Given the description of an element on the screen output the (x, y) to click on. 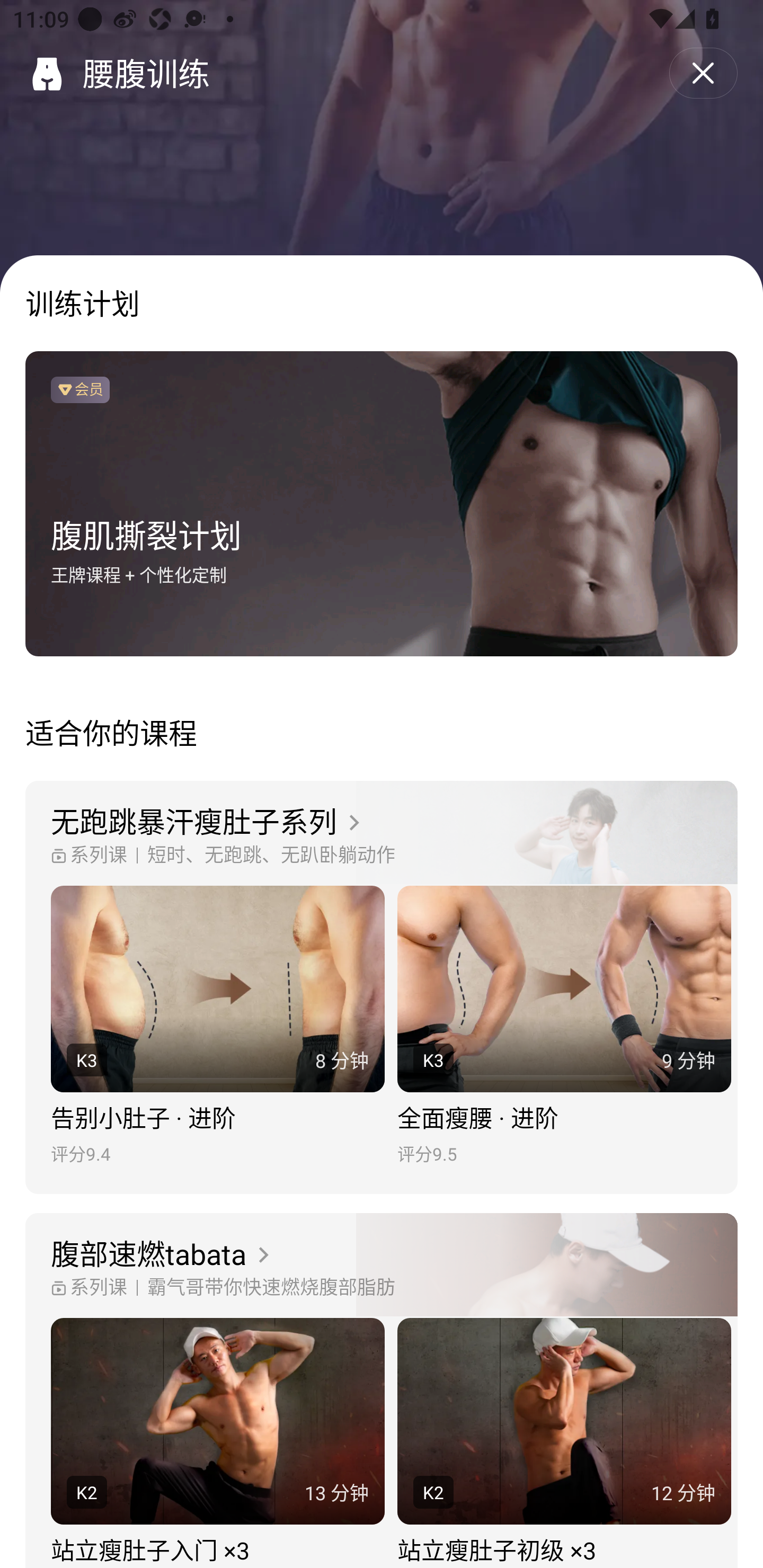
会员 腹肌撕裂计划 王牌课程 + 个性化定制 (381, 503)
无跑跳暴汗瘦肚子系列 系列课 短时、无跑跳、无趴卧躺动作 (381, 832)
K3 8 分钟 告别小肚子 · 进阶 评分9.4 (217, 1025)
K3 9 分钟 全面瘦腰 · 进阶 评分9.5 (563, 1025)
腹部速燃tabata 系列课 霸气哥带你快速燃烧腹部脂肪 (381, 1265)
K2 13 分钟 站立瘦肚子入门 ×3 (217, 1443)
K2 12 分钟 站立瘦肚子初级 ×3 (563, 1443)
